Given the description of an element on the screen output the (x, y) to click on. 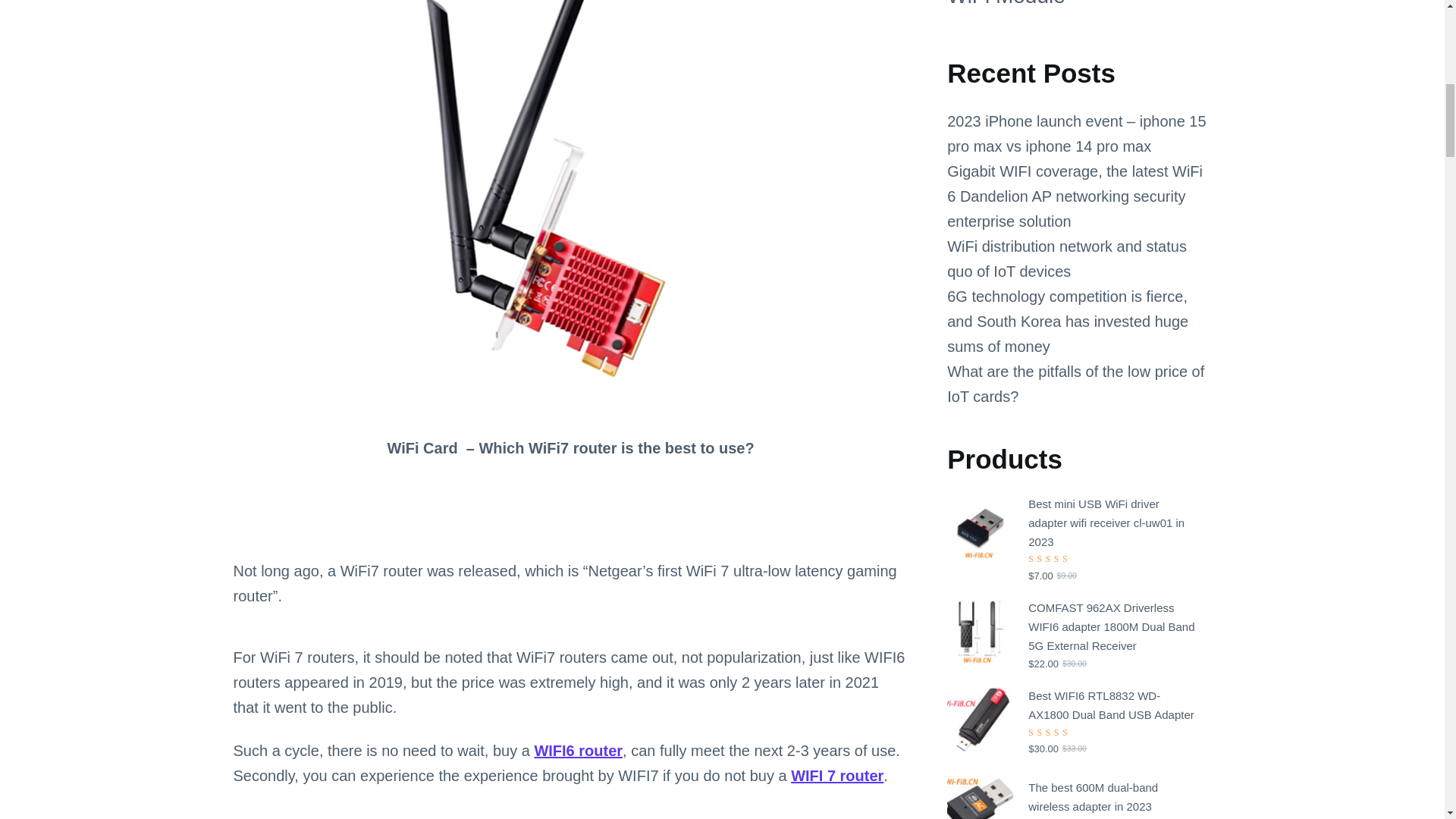
WIFI6 router (578, 750)
PCIe WiFi Card vs usb adapter (570, 812)
WIFI 7 router (836, 775)
